Given the description of an element on the screen output the (x, y) to click on. 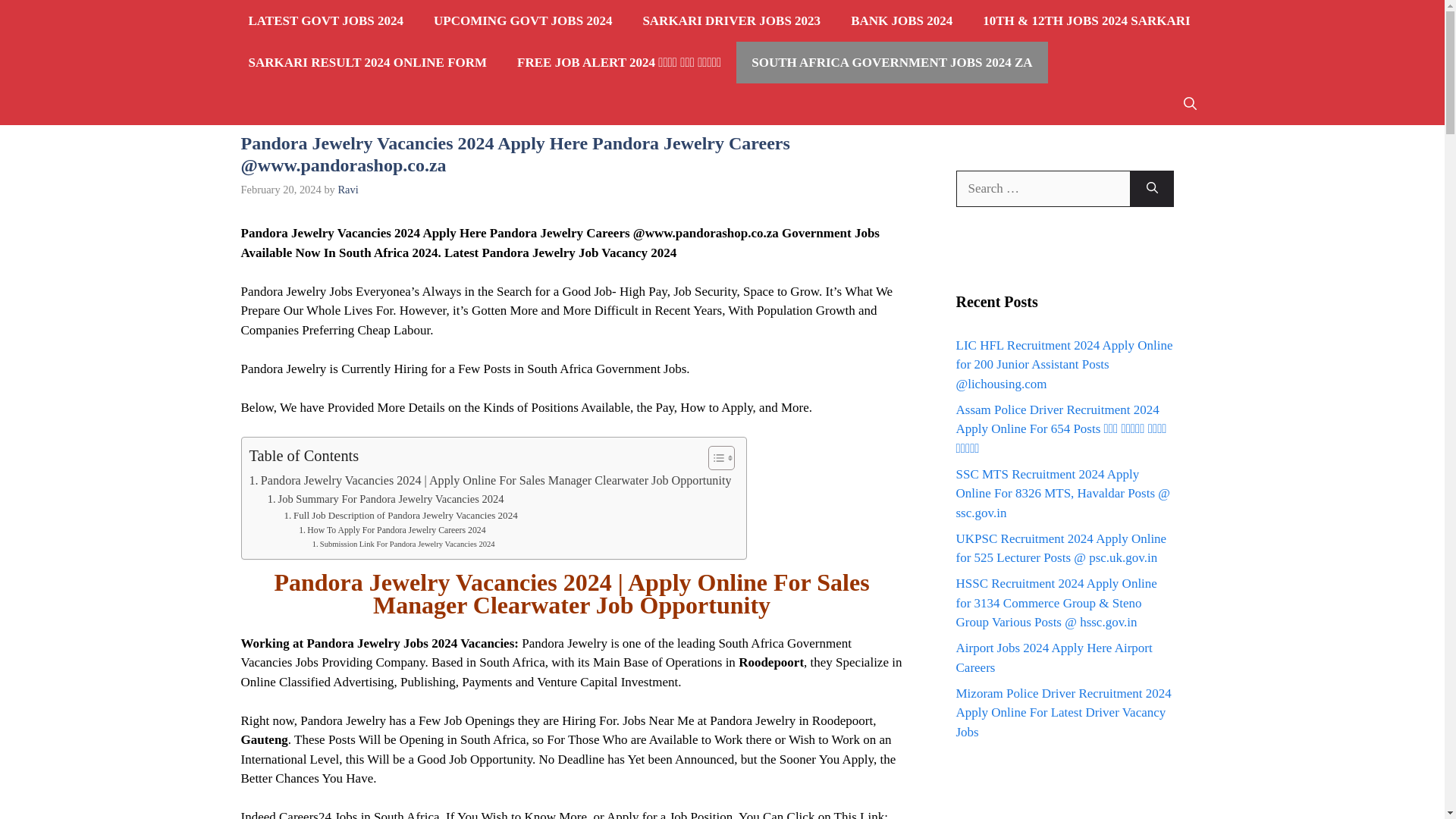
Ravi (347, 189)
SARKARI DRIVER JOBS 2023 (731, 20)
Submission Link For Pandora Jewelry Vacancies 2024 (404, 544)
Job Summary For Pandora Jewelry Vacancies 2024 (385, 498)
LATEST GOVT JOBS 2024 (325, 20)
Full Job Description of Pandora Jewelry Vacancies 2024 (400, 515)
How To Apply For Pandora Jewelry Careers 2024 (391, 531)
Job Summary For Pandora Jewelry Vacancies 2024 (385, 498)
SOUTH AFRICA GOVERNMENT JOBS 2024 ZA (891, 62)
UPCOMING GOVT JOBS 2024 (523, 20)
